Given the description of an element on the screen output the (x, y) to click on. 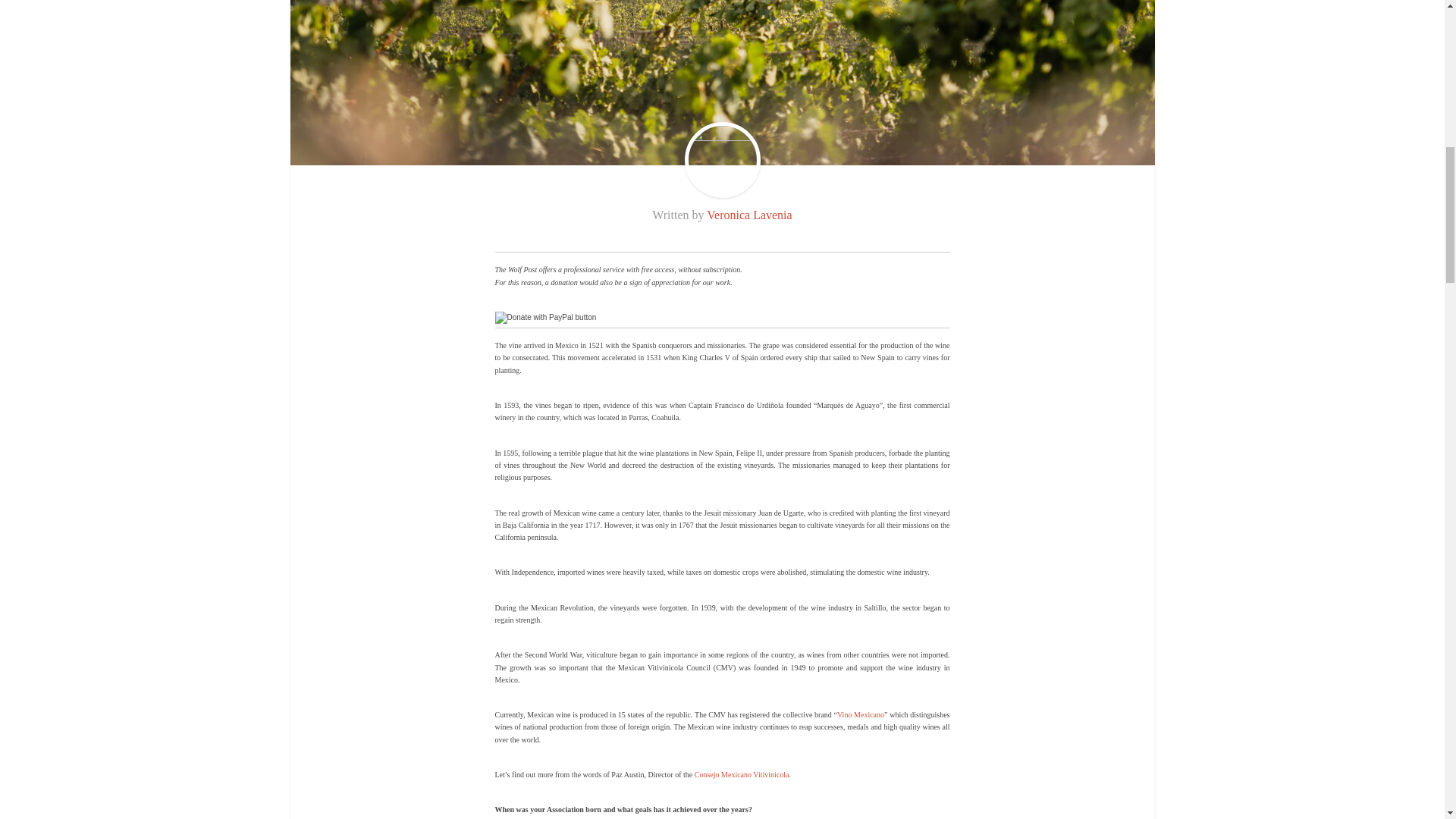
PayPal - The safer, easier way to pay online! (545, 317)
